Given the description of an element on the screen output the (x, y) to click on. 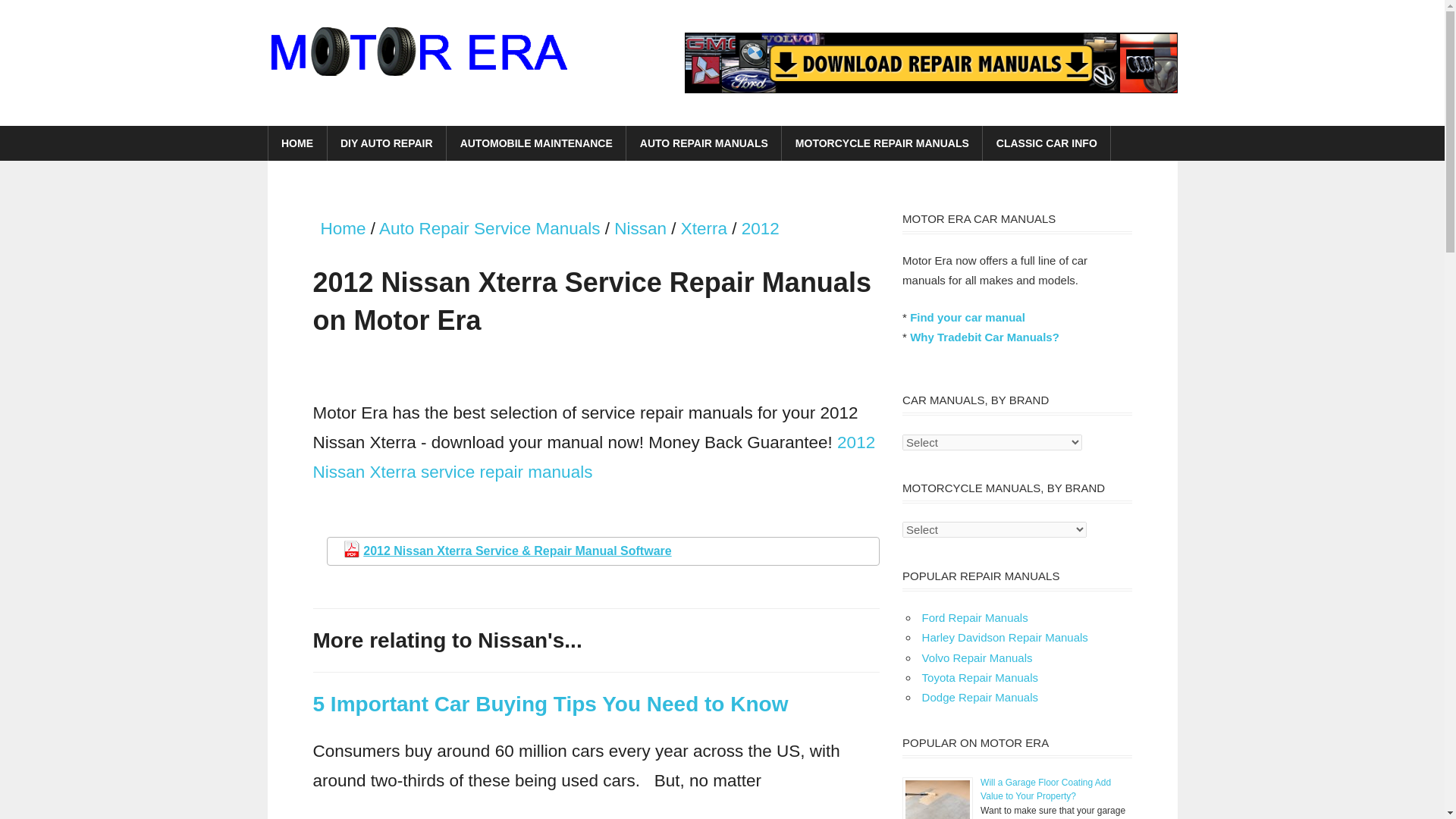
AUTO REPAIR MANUALS (703, 143)
5 Important Car Buying Tips You Need to Know (550, 703)
CLASSIC CAR INFO (1046, 143)
Xterra (703, 228)
Harley Davidson Repair Manuals (1004, 636)
Nissan (640, 228)
Home (342, 228)
Find your car manual (967, 317)
Dodge Repair Manuals (979, 697)
